Given the description of an element on the screen output the (x, y) to click on. 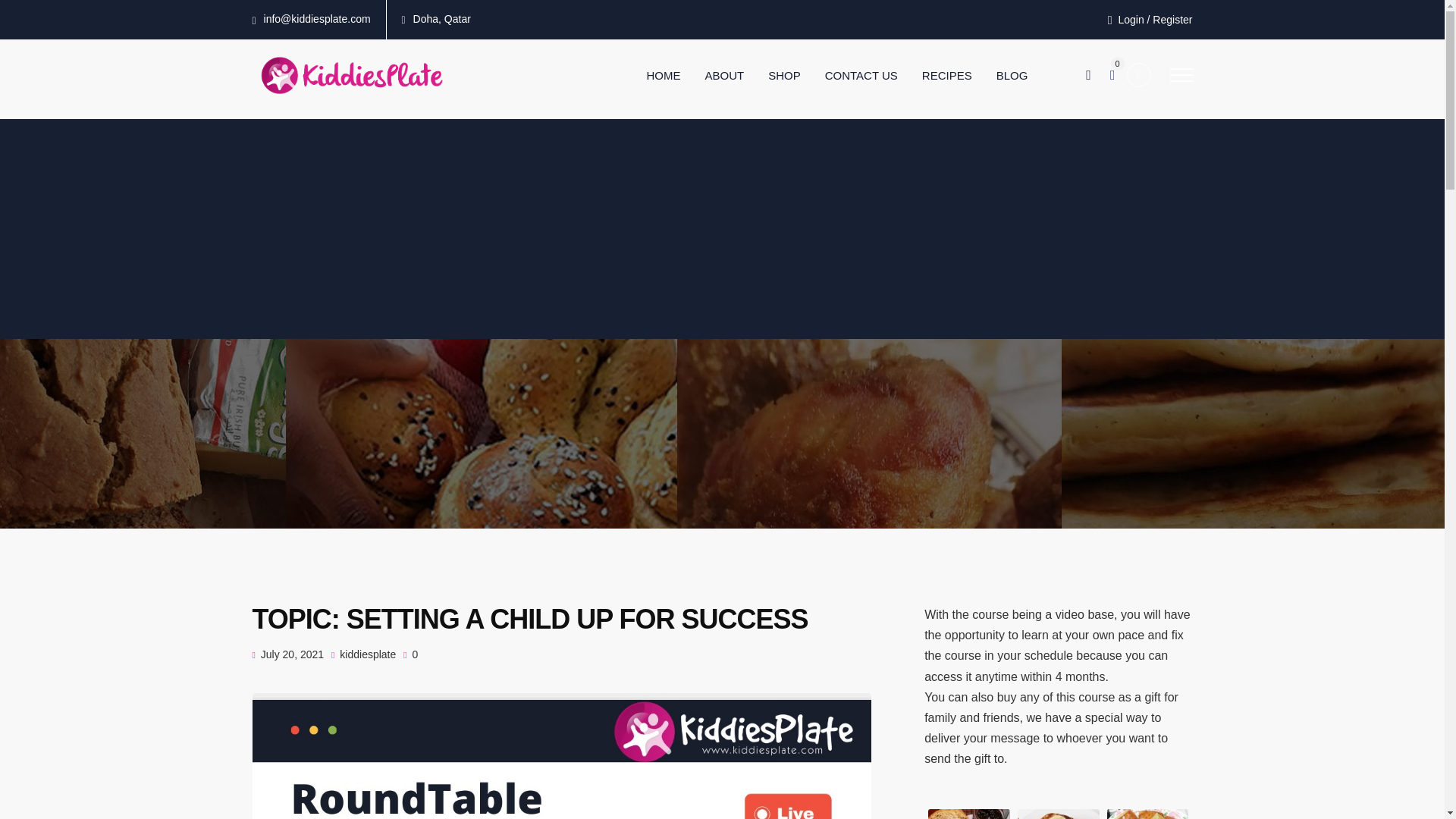
SHOP (790, 75)
ABOUT (729, 75)
CONTACT US (867, 75)
BLOG (1018, 75)
HOME (669, 75)
RECIPES (952, 75)
